Given the description of an element on the screen output the (x, y) to click on. 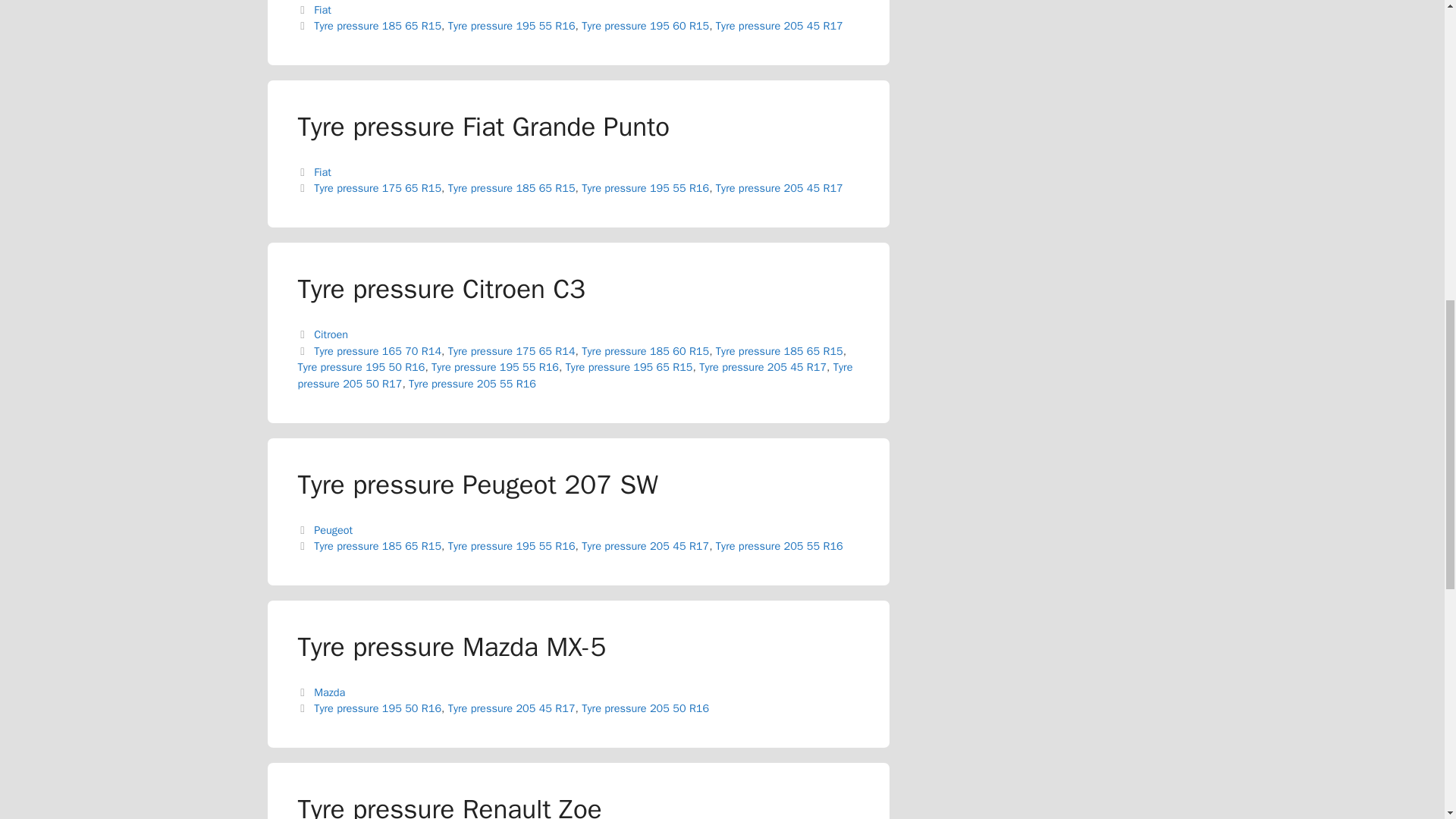
Tyre pressure 195 60 R15 (644, 25)
Tyre pressure 175 65 R14 (511, 350)
Tyre pressure 195 55 R16 (494, 366)
Tyre pressure 195 50 R16 (361, 366)
Tyre pressure 165 70 R14 (377, 350)
Tyre pressure 185 65 R15 (779, 350)
Fiat (322, 172)
Citroen (330, 334)
Tyre pressure 185 65 R15 (511, 187)
Tyre pressure 195 55 R16 (511, 25)
Tyre pressure 185 60 R15 (644, 350)
Tyre pressure 175 65 R15 (377, 187)
Tyre pressure Citroen C3 (441, 288)
Fiat (322, 9)
Tyre pressure 195 55 R16 (644, 187)
